Given the description of an element on the screen output the (x, y) to click on. 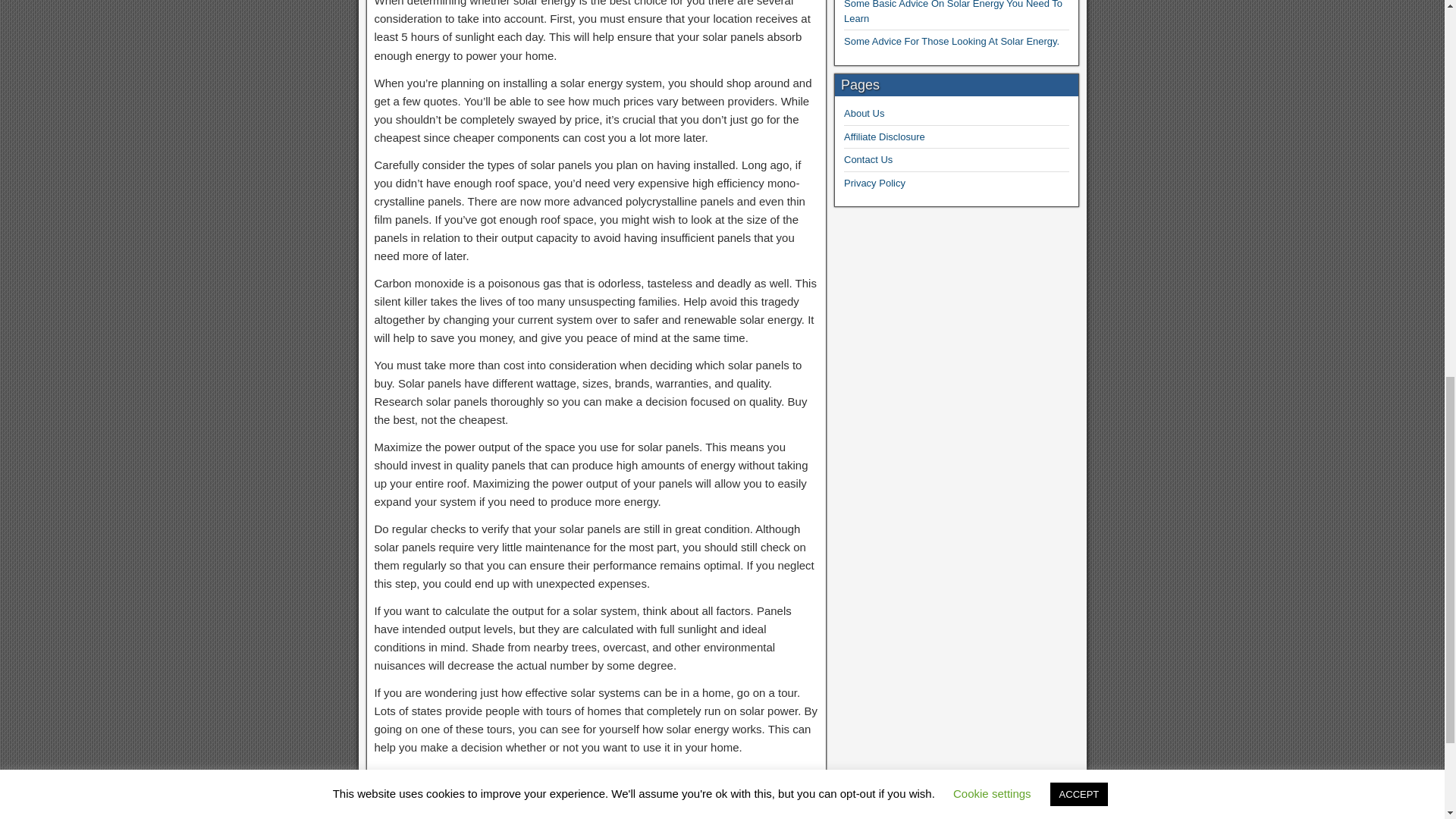
Some Advice For Those Looking At Solar Energy. (951, 41)
About Us (863, 112)
Privacy Policy (874, 183)
Affiliate Disclosure (884, 136)
Contact Us (868, 159)
Some Basic Advice On Solar Energy You Need To Learn (953, 12)
